Given the description of an element on the screen output the (x, y) to click on. 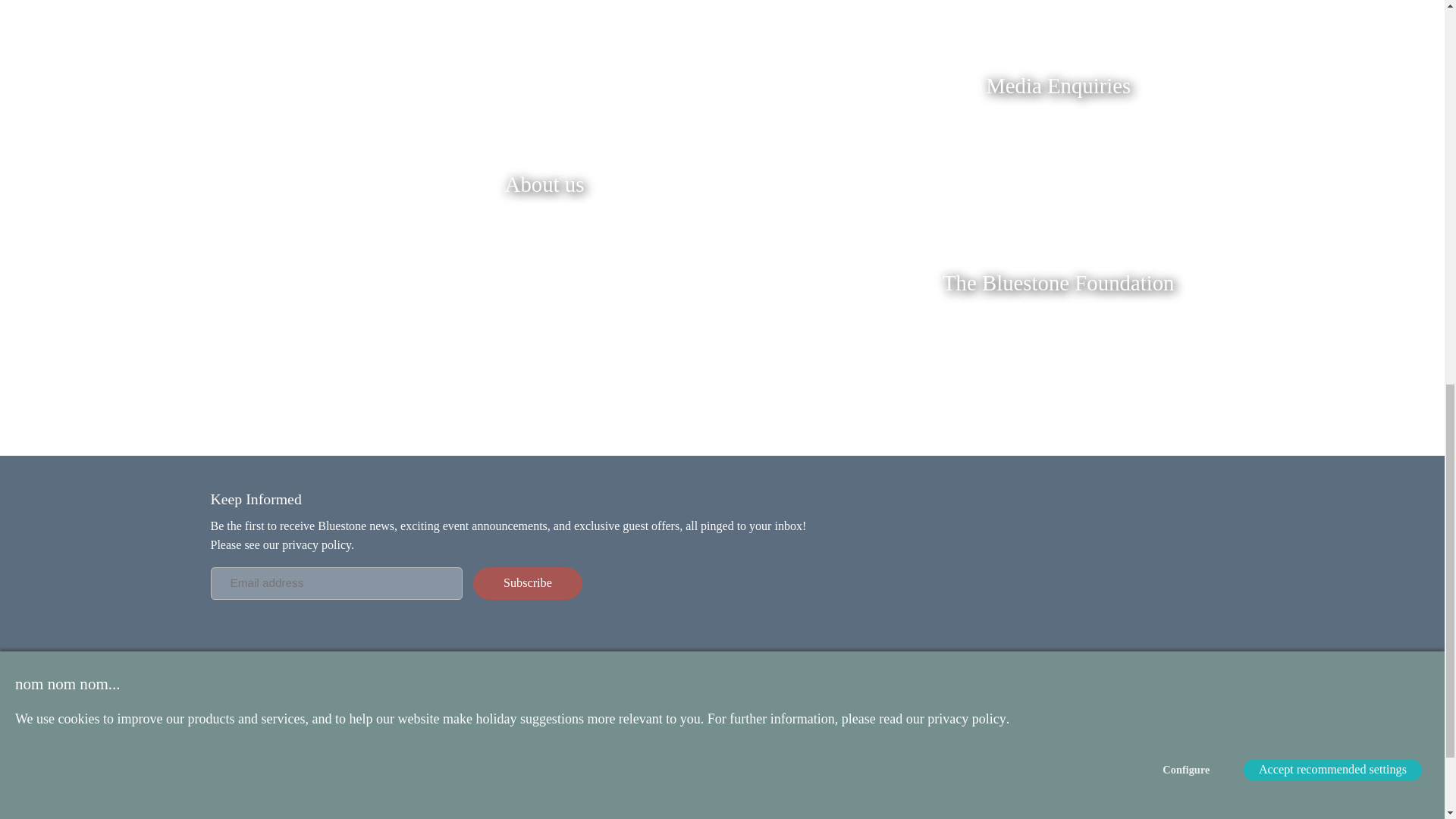
Subscribe (527, 583)
About Us (232, 725)
Contact Us (235, 740)
Directions (626, 740)
Careers (227, 756)
Bluestone Foundation (259, 804)
Please see our privacy policy. (283, 544)
Any Questions (636, 756)
Help (614, 772)
Guest Information (644, 725)
